Given the description of an element on the screen output the (x, y) to click on. 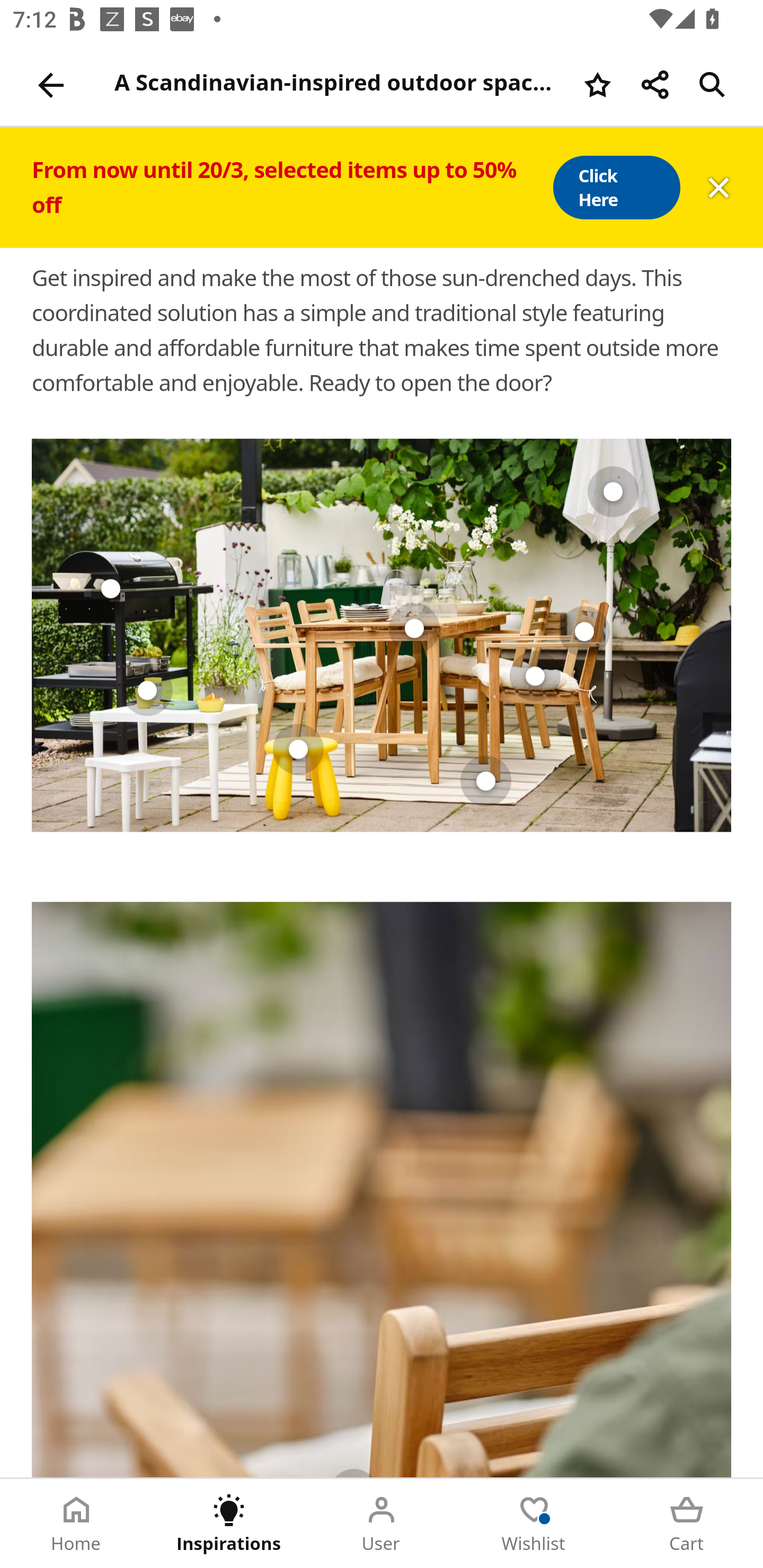
Click Here (615, 187)
Home
Tab 1 of 5 (76, 1522)
Inspirations
Tab 2 of 5 (228, 1522)
User
Tab 3 of 5 (381, 1522)
Wishlist
Tab 4 of 5 (533, 1522)
Cart
Tab 5 of 5 (686, 1522)
